Given the description of an element on the screen output the (x, y) to click on. 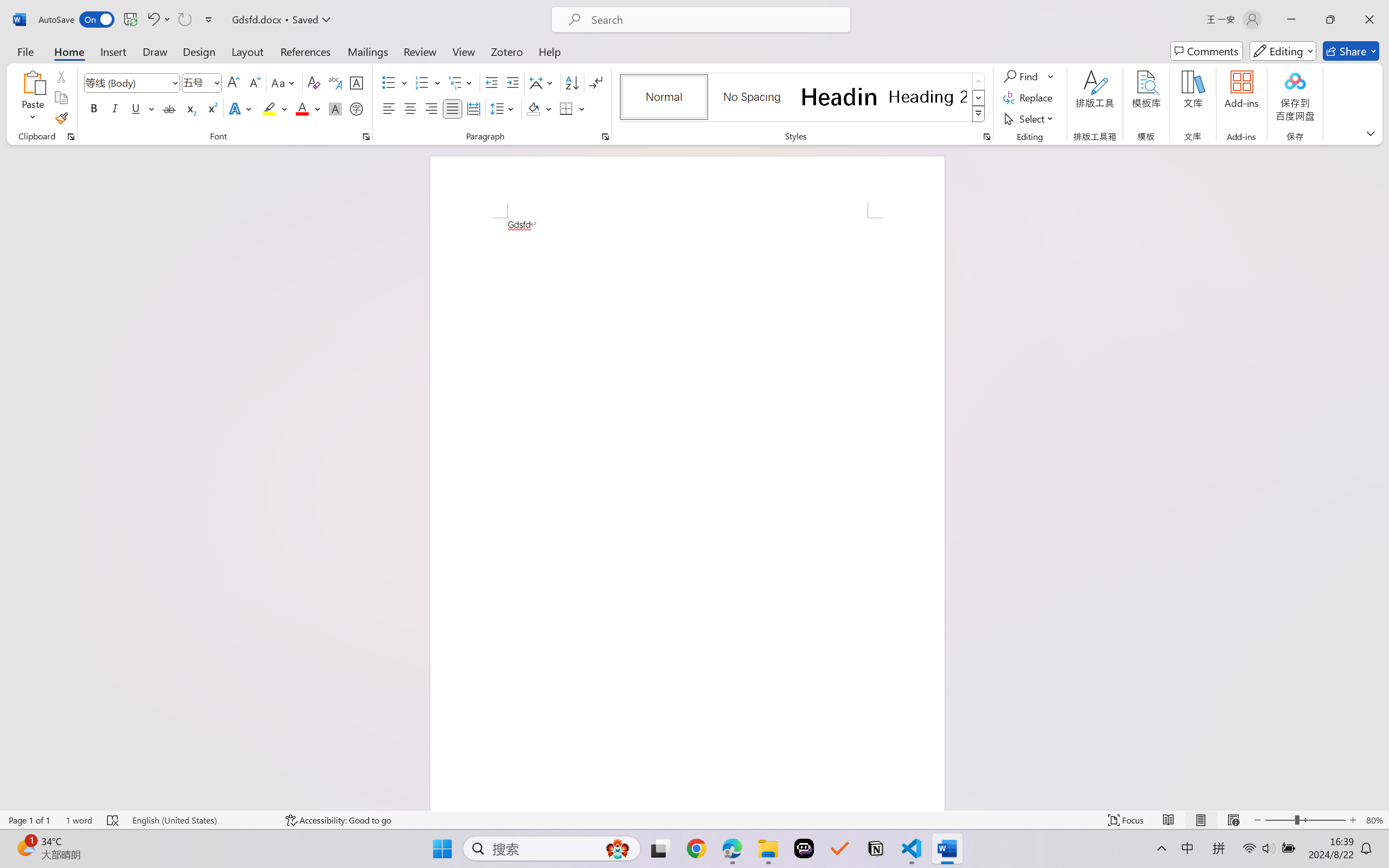
AutomationID: QuickStylesGallery (802, 97)
Can't Repeat (184, 19)
Undo Apply Quick Style (152, 19)
Spelling and Grammar Check Errors (113, 819)
